Given the description of an element on the screen output the (x, y) to click on. 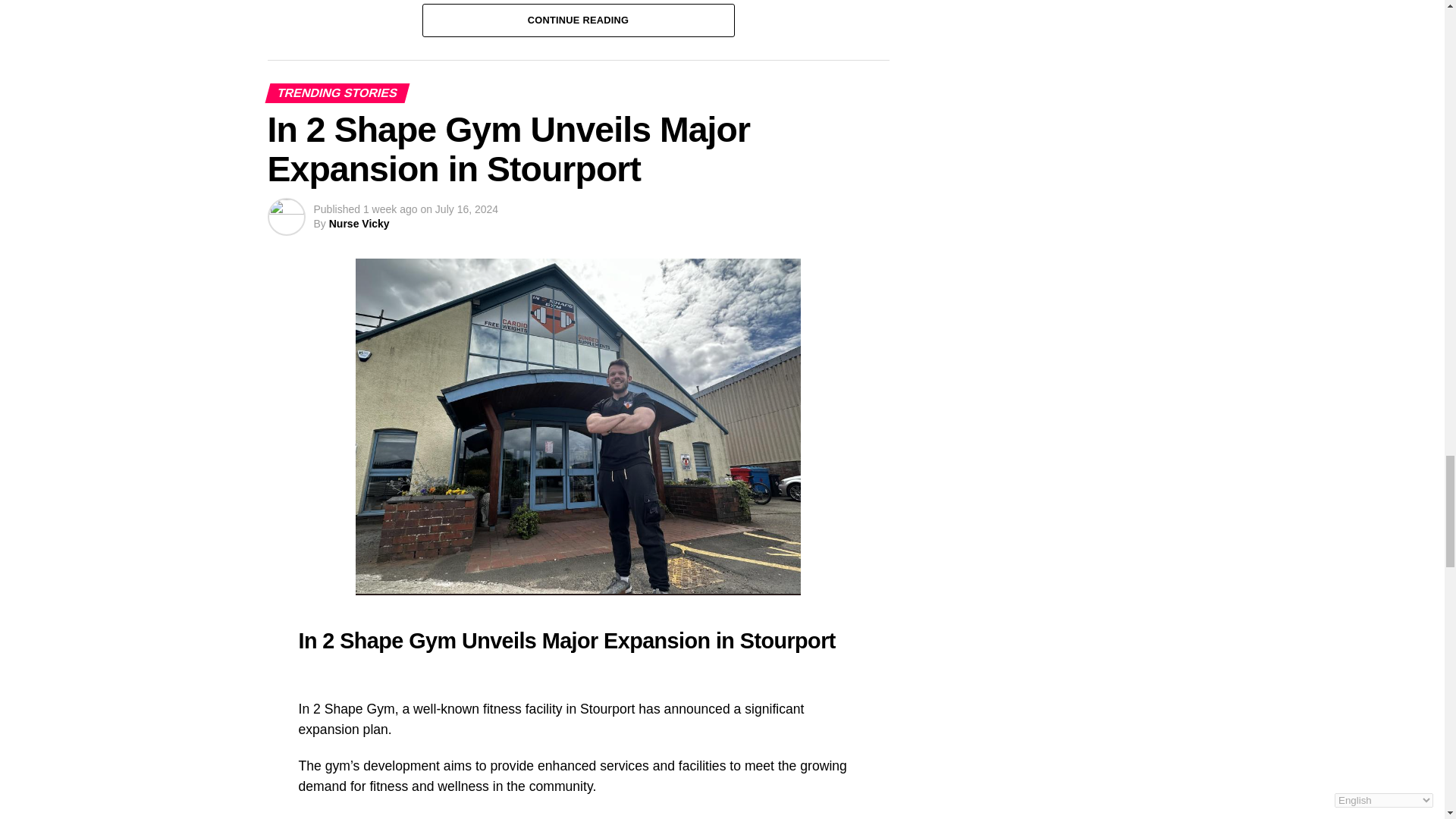
Posts by Nurse Vicky (359, 223)
